Given the description of an element on the screen output the (x, y) to click on. 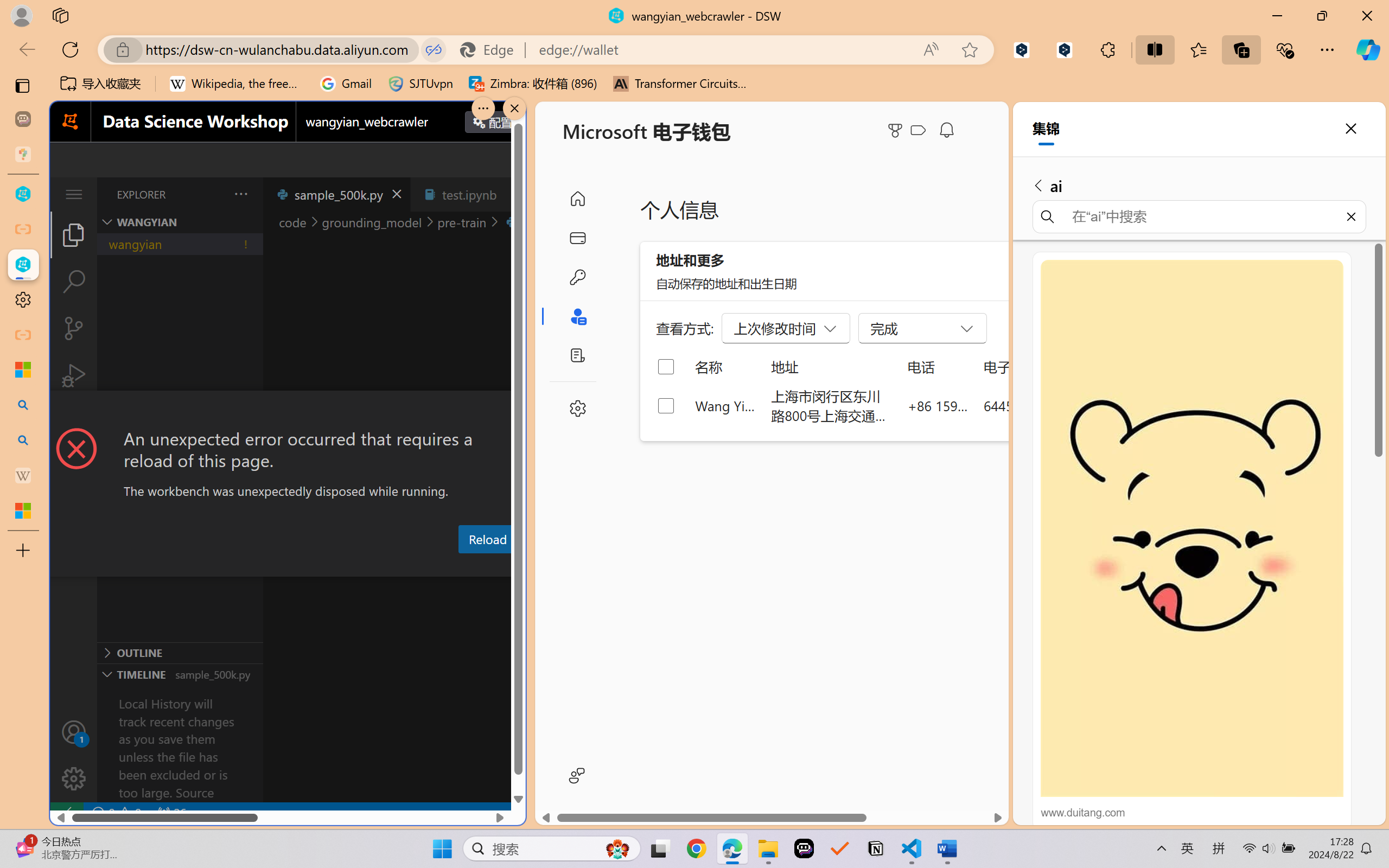
Reload (486, 538)
No Problems (115, 812)
Microsoft security help and learning (22, 369)
